Given the description of an element on the screen output the (x, y) to click on. 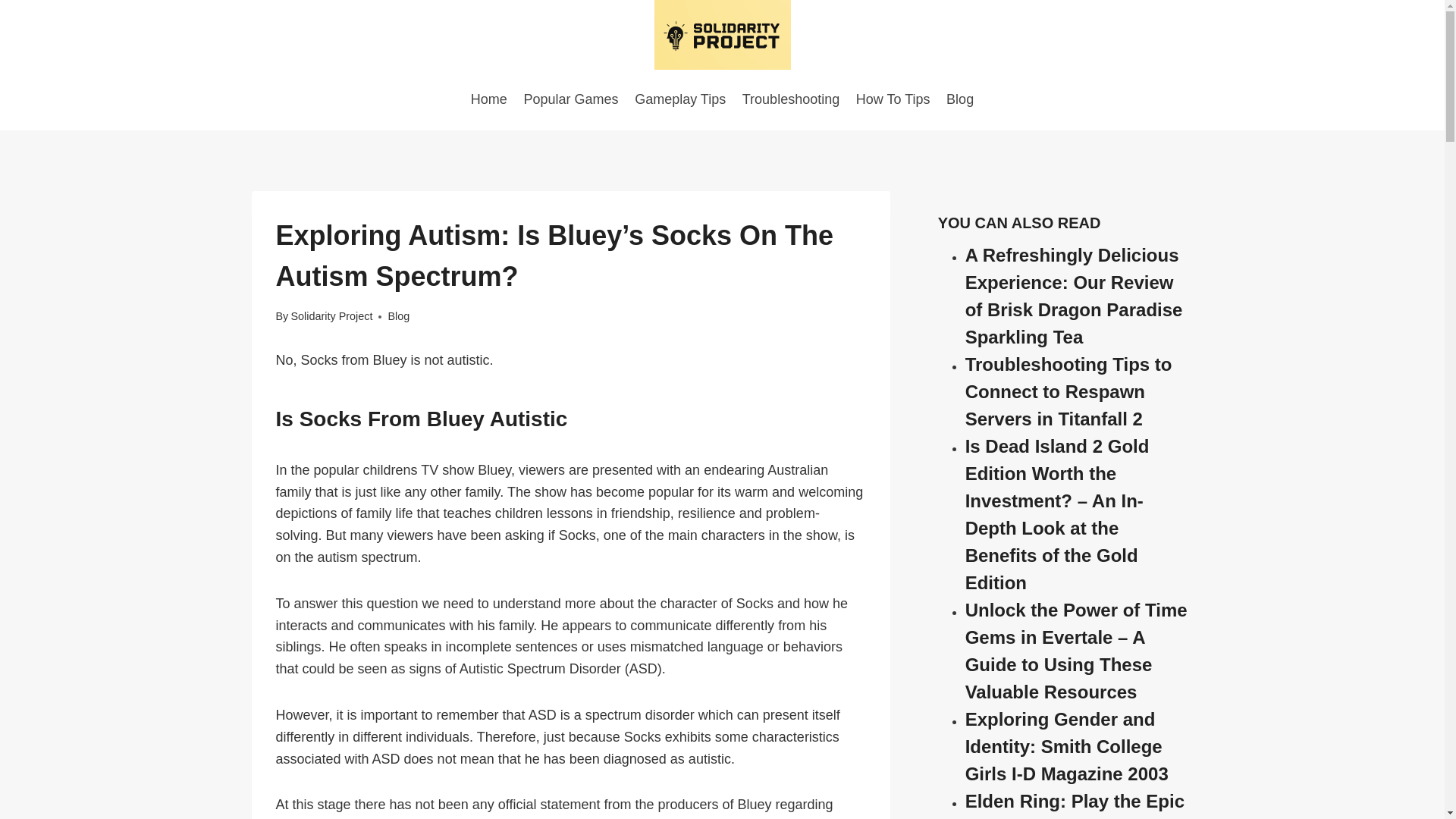
Troubleshooting (790, 98)
How To Tips (892, 98)
Blog (959, 98)
Popular Games (571, 98)
Gameplay Tips (679, 98)
Blog (398, 316)
Home (489, 98)
Elden Ring: Play the Epic Fantasy Adventure on Your Mac M1! (1075, 805)
